Given the description of an element on the screen output the (x, y) to click on. 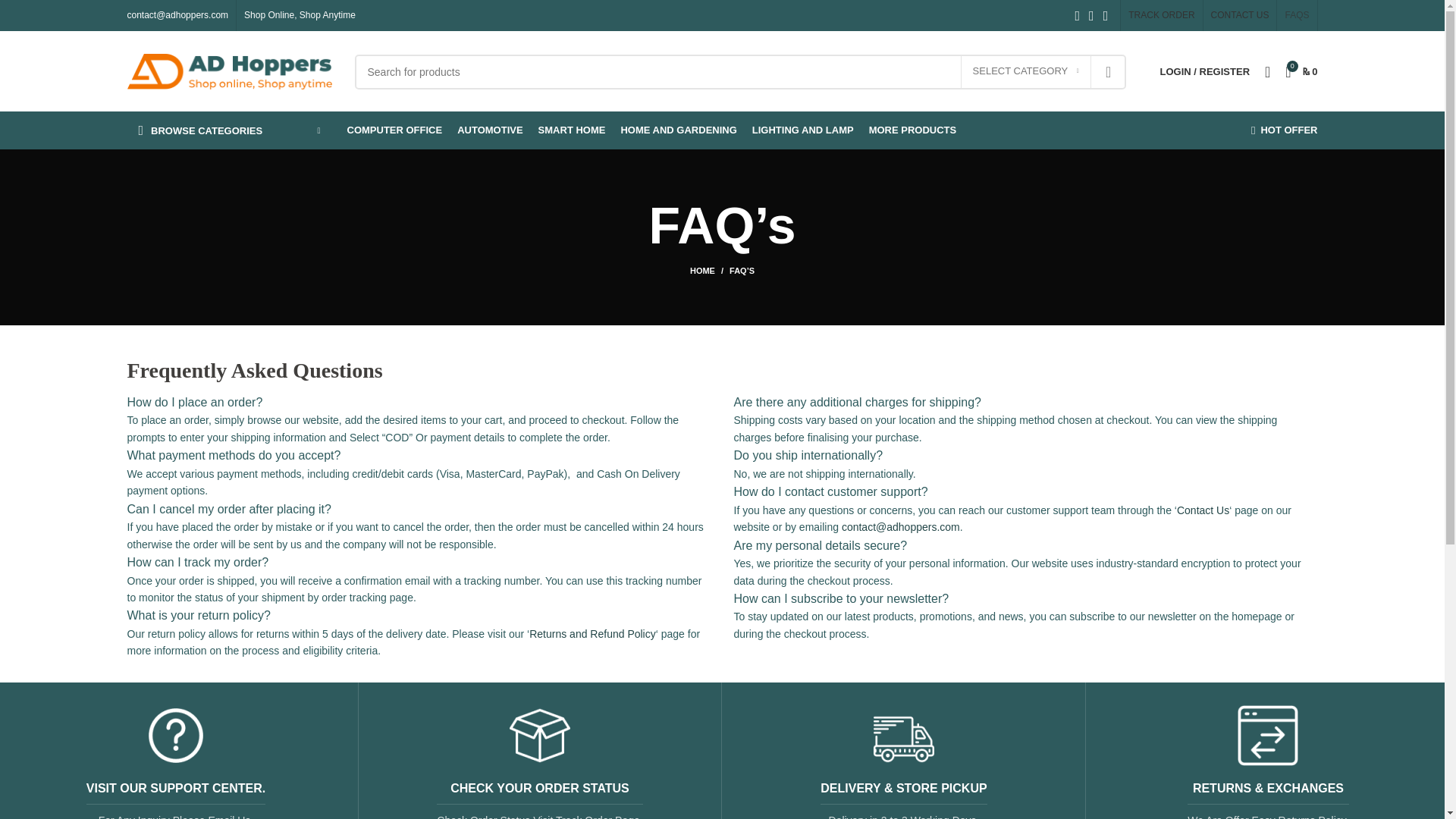
SELECT CATEGORY (1025, 71)
Shopping cart (1301, 71)
Search for products (740, 71)
My account (1205, 71)
CONTACT US (1240, 15)
SELECT CATEGORY (1025, 71)
TRACK ORDER (1160, 15)
